Given the description of an element on the screen output the (x, y) to click on. 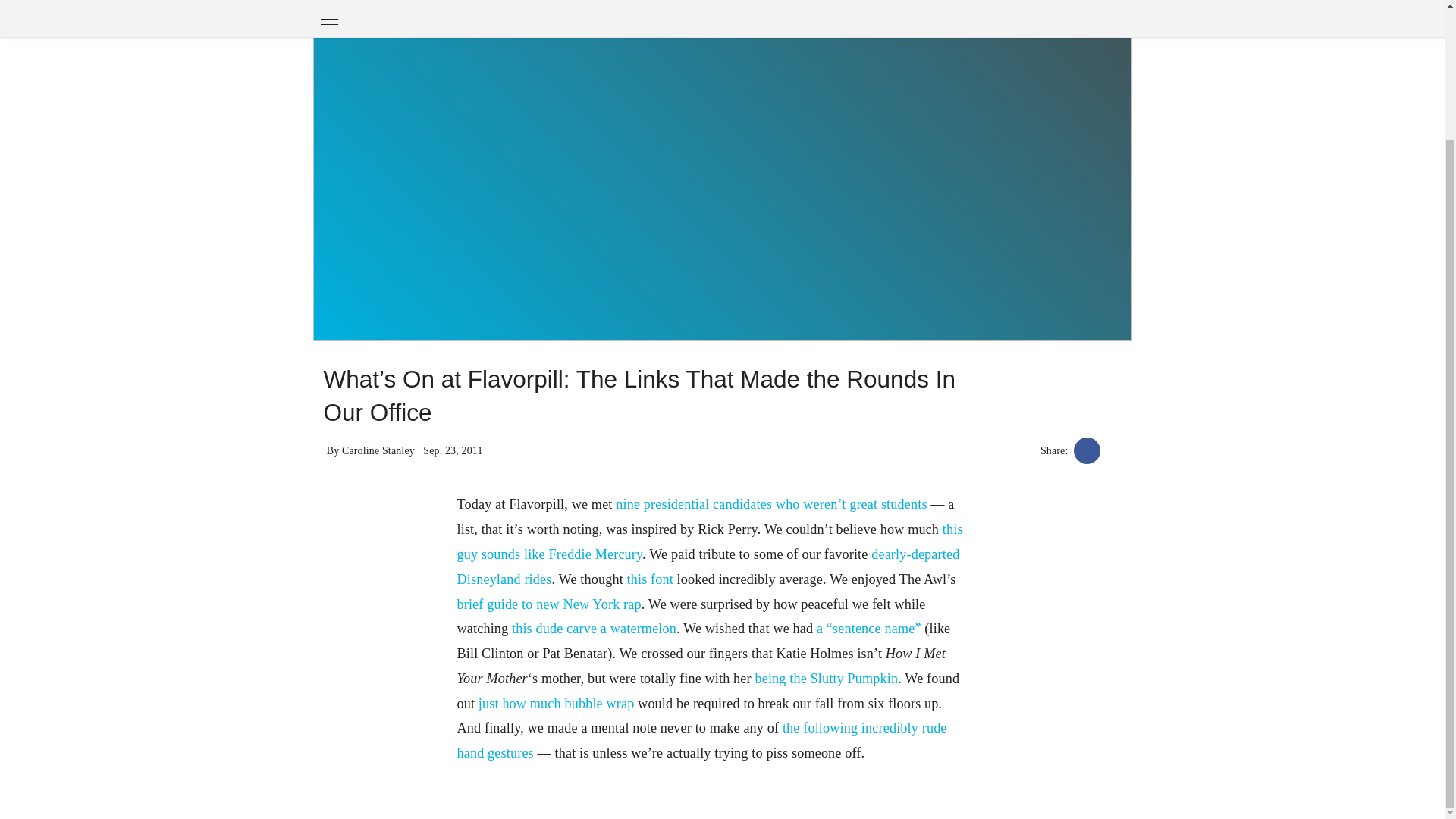
this guy sounds like Freddie Mercury (709, 541)
this dude carve a watermelon (594, 628)
being the Slutty Pumpkin (826, 678)
dearly-departed Disneyland rides (708, 567)
just how much bubble wrap (556, 703)
the following incredibly rude hand gestures (701, 740)
this font (649, 579)
Caroline Stanley (378, 450)
brief guide to new New York rap (548, 604)
